Given the description of an element on the screen output the (x, y) to click on. 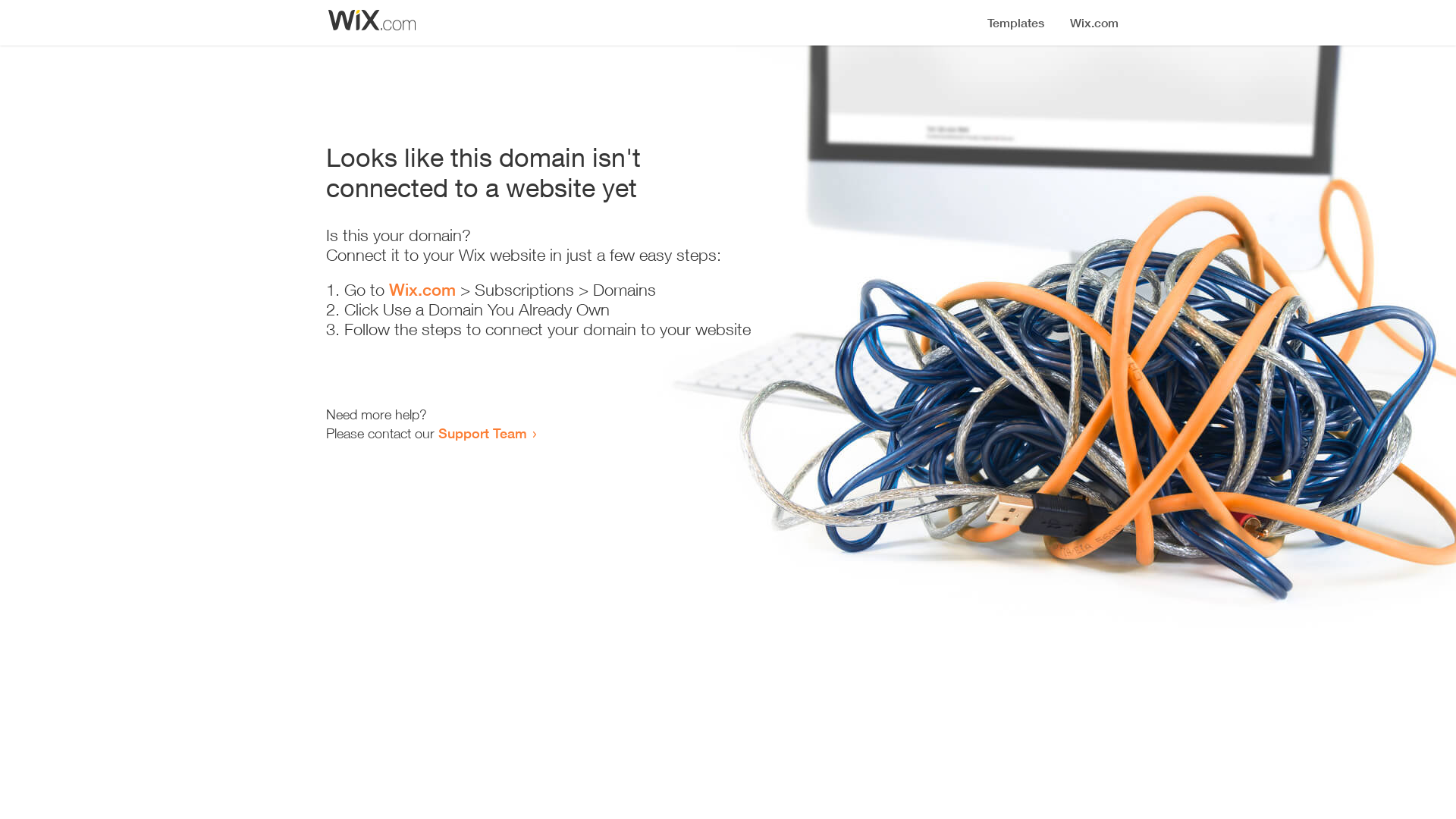
Wix.com Element type: text (422, 289)
Support Team Element type: text (482, 432)
